Given the description of an element on the screen output the (x, y) to click on. 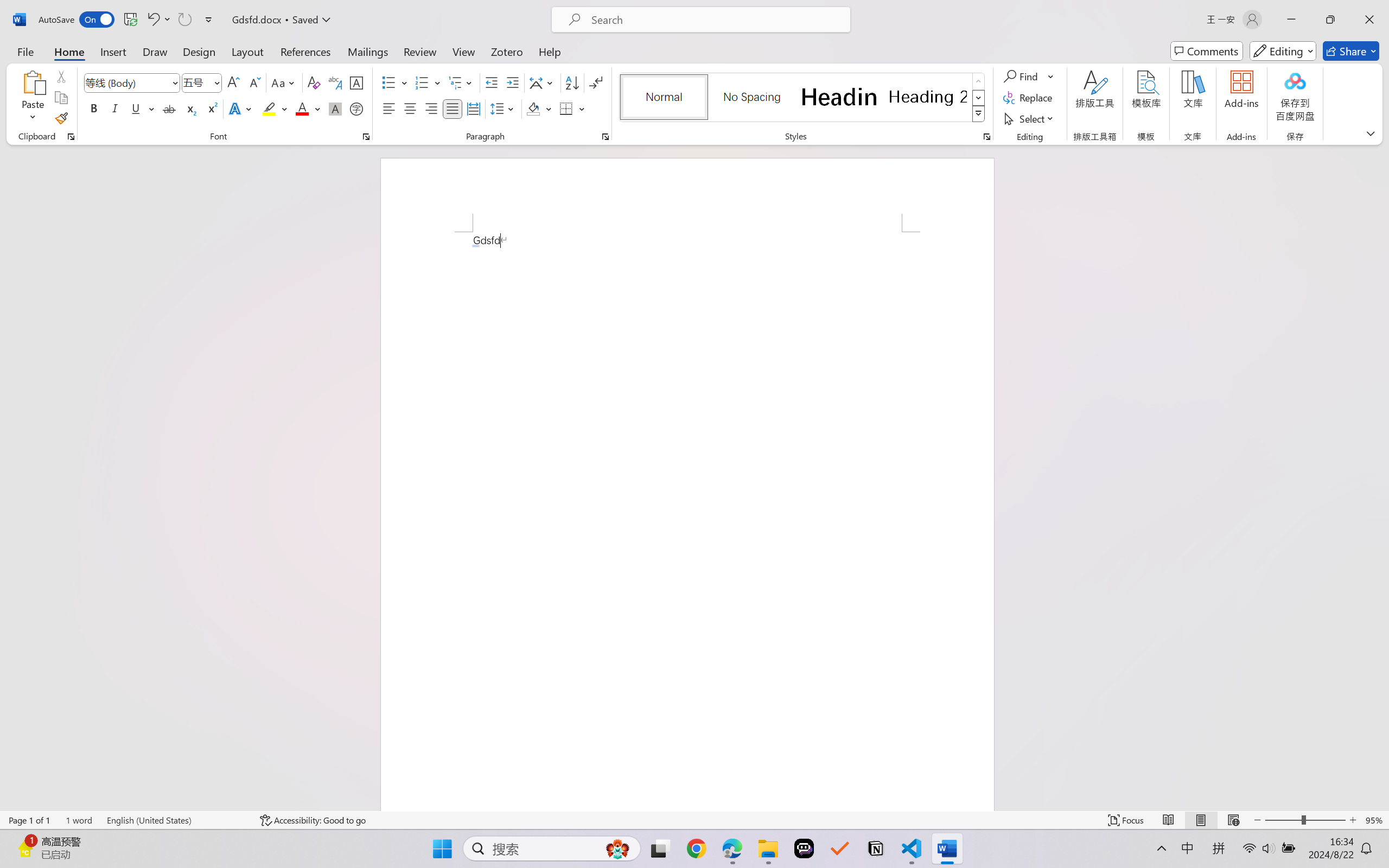
Undo AutoCorrect (152, 19)
Microsoft search (715, 19)
Character Border (356, 82)
Replace... (1029, 97)
Show/Hide Editing Marks (595, 82)
Superscript (210, 108)
Multilevel List (461, 82)
Zoom 95% (1374, 819)
